Given the description of an element on the screen output the (x, y) to click on. 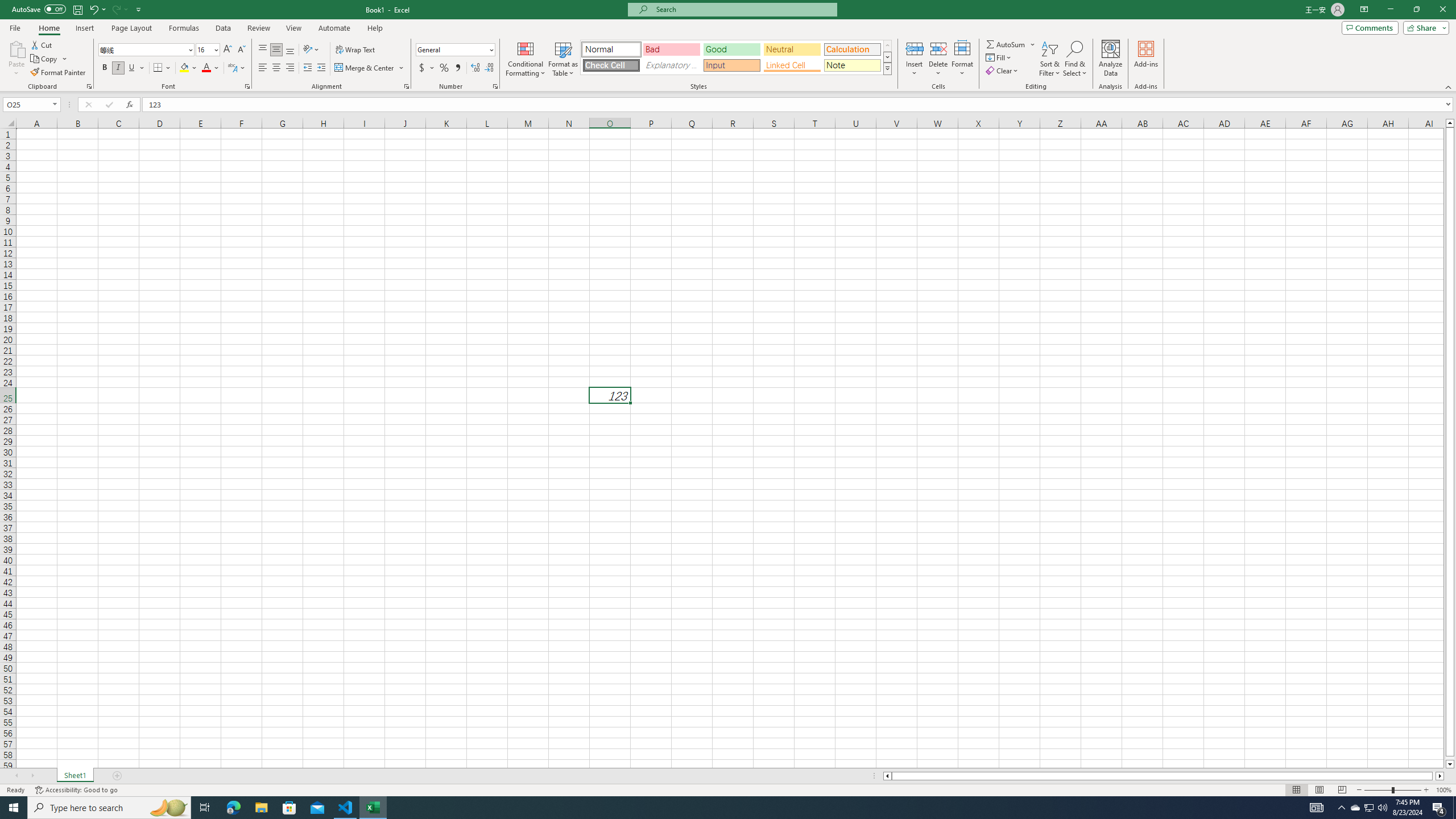
Wrap Text (355, 49)
Paste (16, 58)
Decrease Indent (307, 67)
Format Cell Font (247, 85)
Borders (162, 67)
Delete Cells... (938, 48)
